Given the description of an element on the screen output the (x, y) to click on. 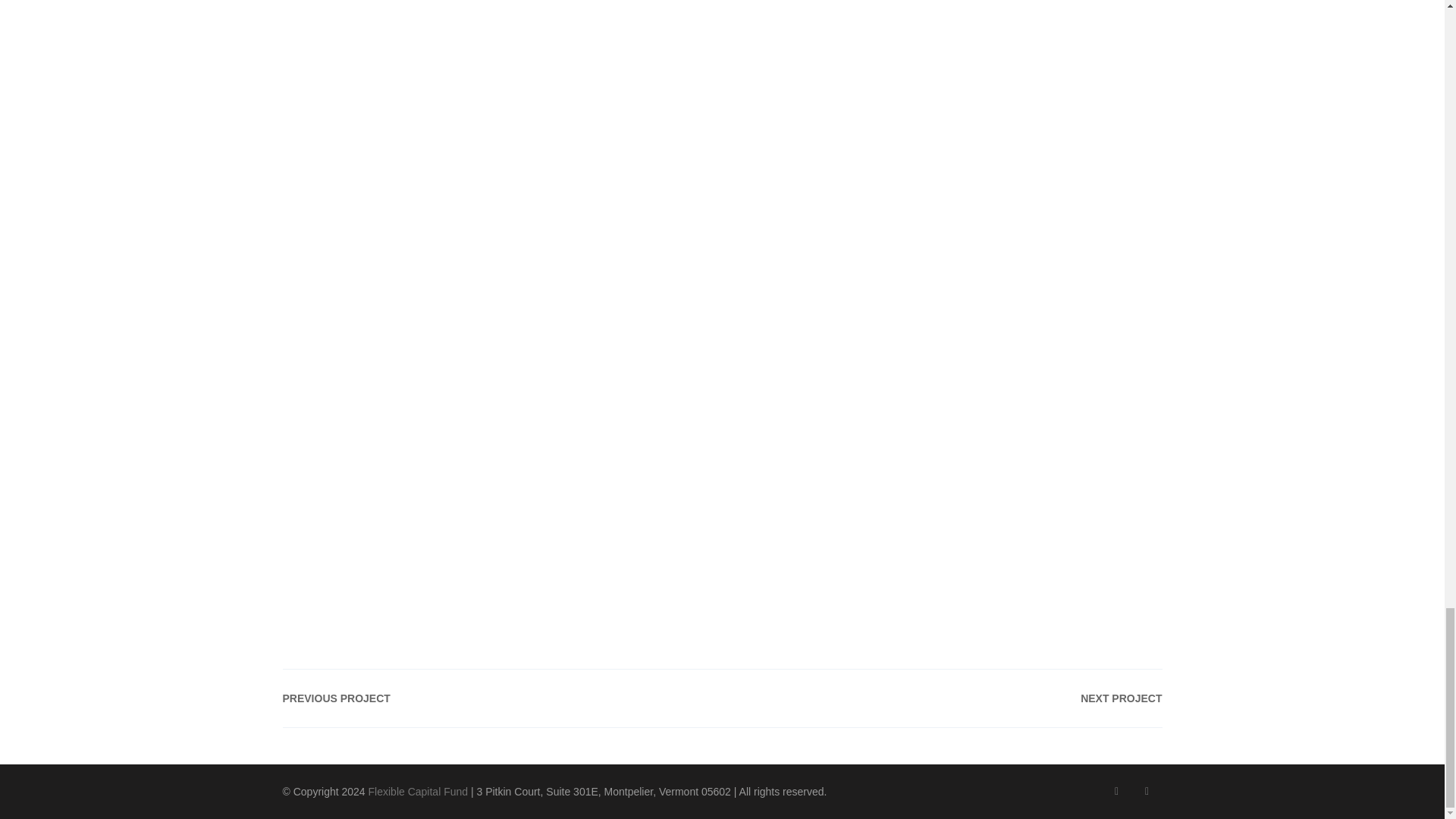
 Follow on Facebook (1115, 791)
PREVIOUS PROJECT (336, 698)
Flexible Capital Fund (418, 791)
 Follow on LinkedIn (1146, 791)
NEXT PROJECT (1120, 698)
